Given the description of an element on the screen output the (x, y) to click on. 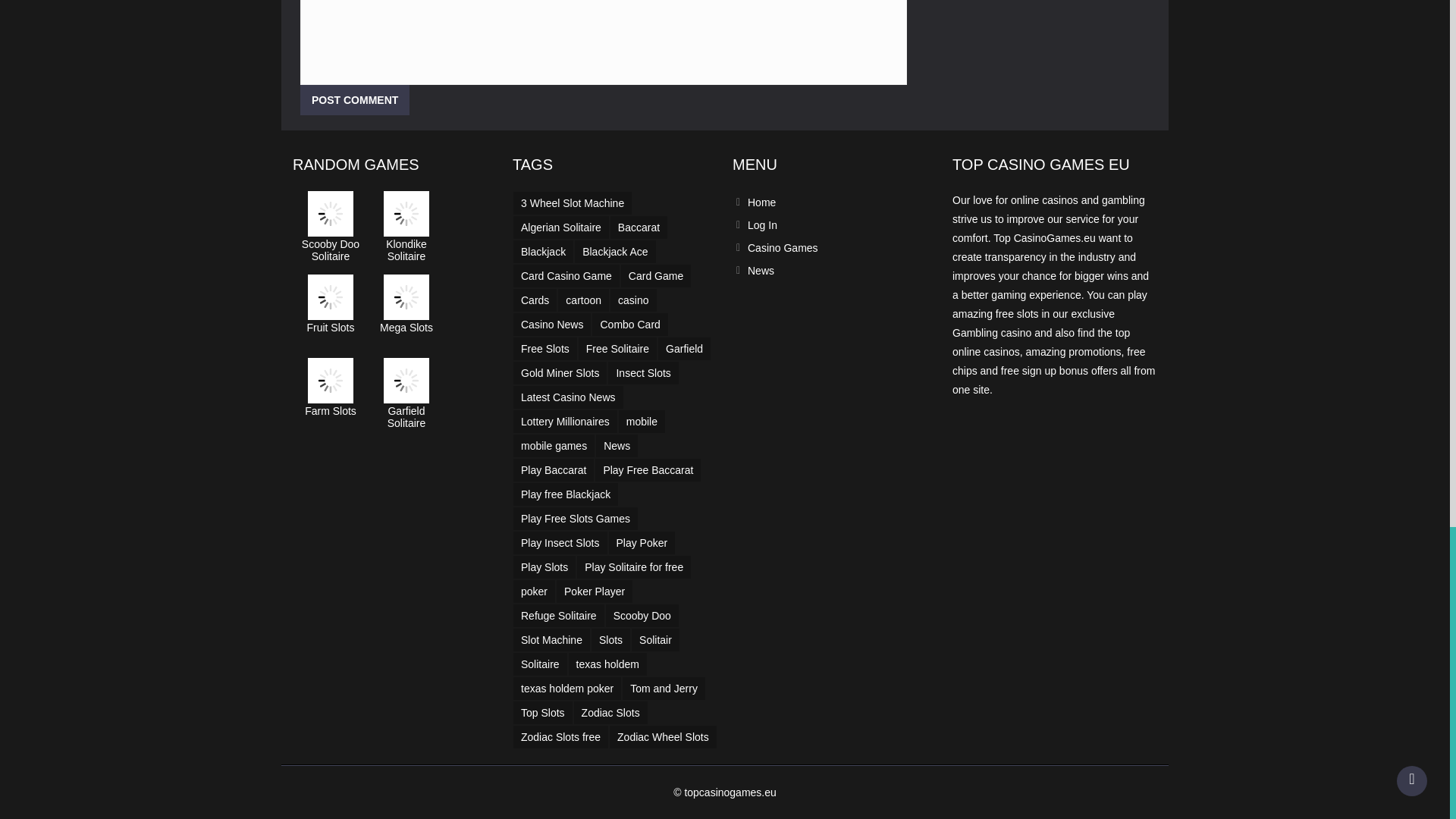
Post Comment (354, 100)
